Given the description of an element on the screen output the (x, y) to click on. 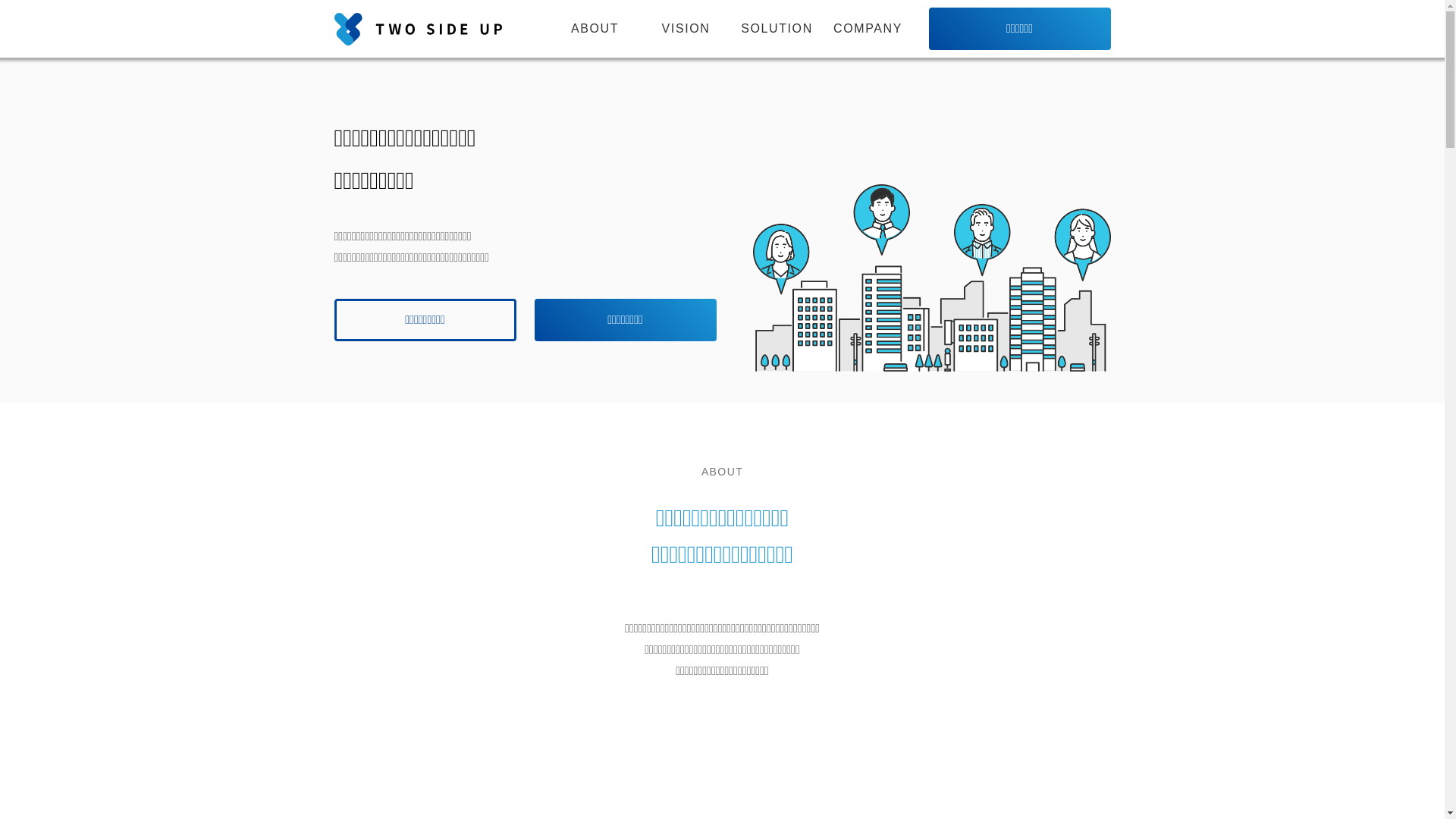
ABOUT Element type: text (594, 28)
VISION Element type: text (685, 28)
SOLUTION Element type: text (776, 28)
COMPANY Element type: text (867, 28)
